Given the description of an element on the screen output the (x, y) to click on. 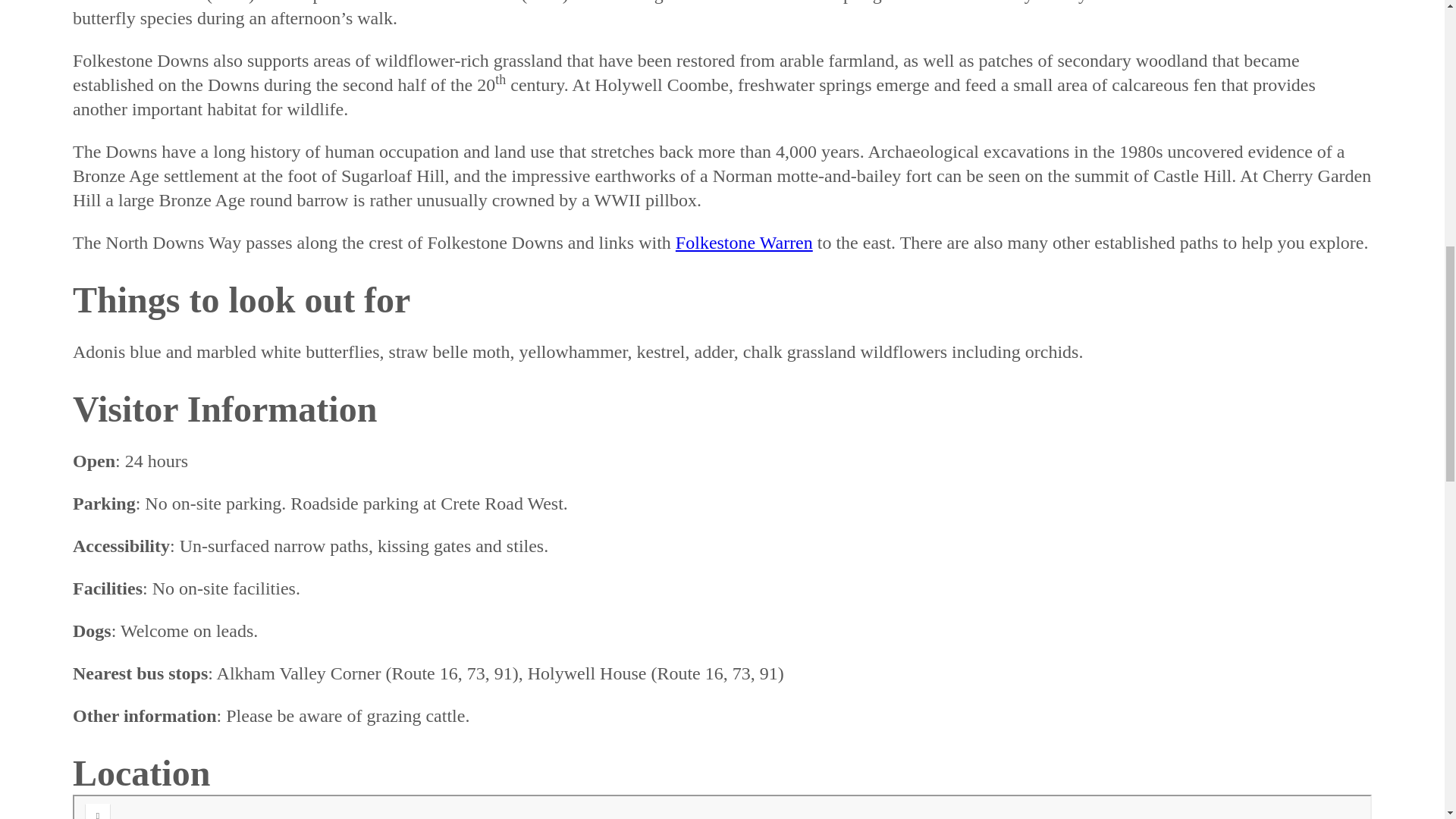
Folkestone Warren (743, 242)
folkestone-warren (743, 242)
